Given the description of an element on the screen output the (x, y) to click on. 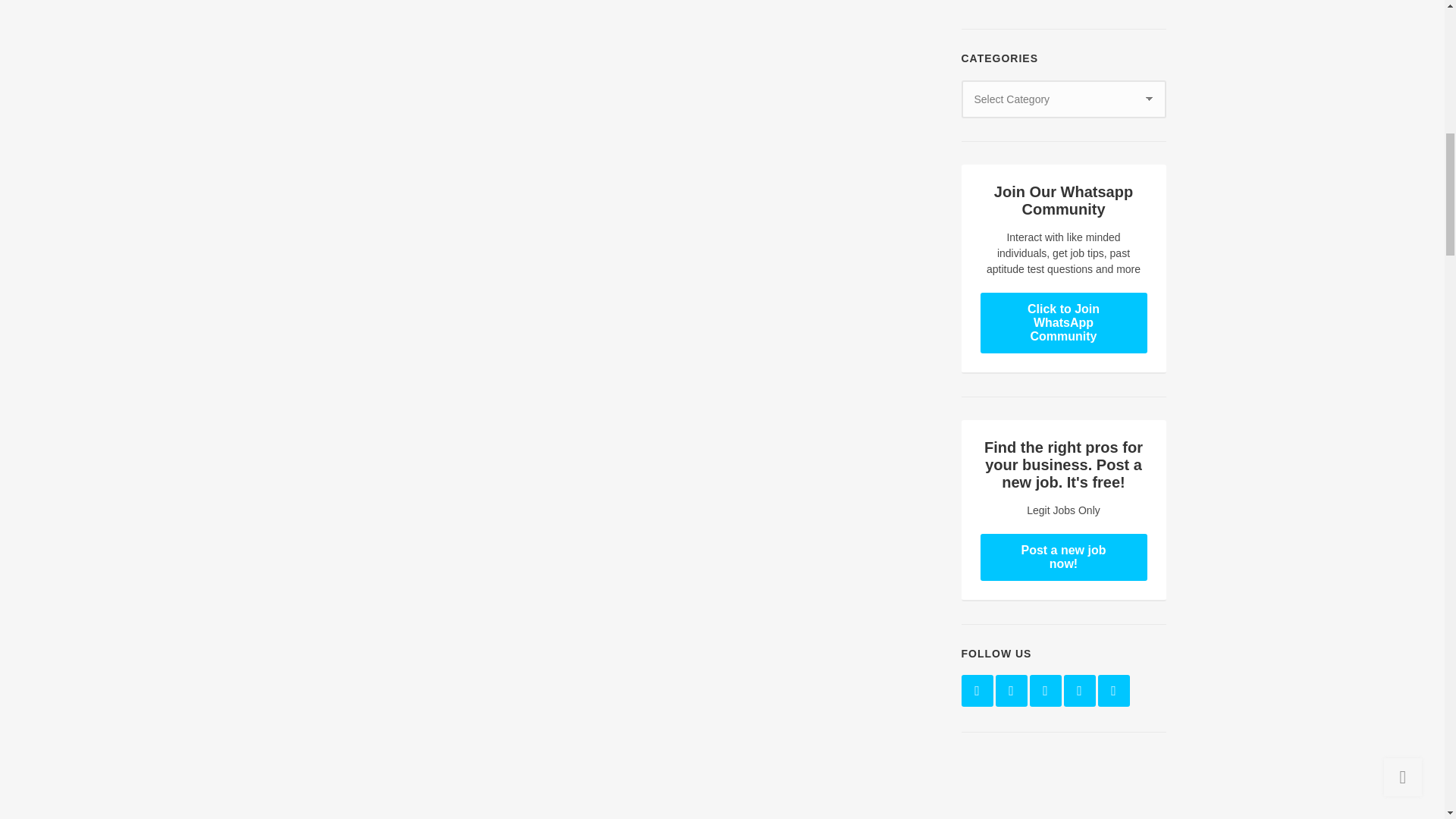
Twitter (1010, 690)
Post a new job now! (1063, 556)
Click to Join WhatsApp Community (1063, 322)
YouTube (1113, 690)
Facebook (976, 690)
linkedin (1045, 690)
instagram (1078, 690)
